Given the description of an element on the screen output the (x, y) to click on. 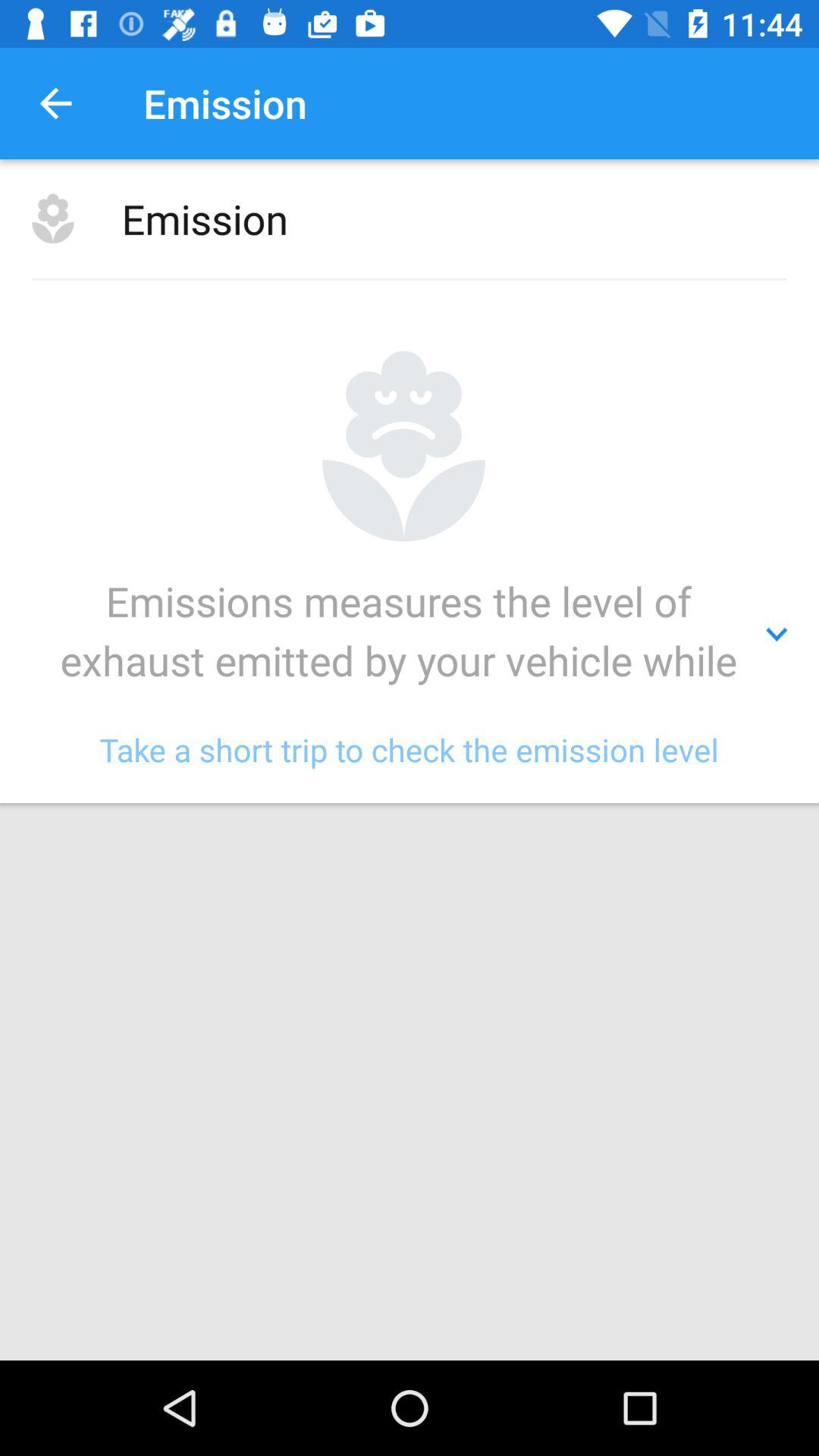
select item above the emission (55, 103)
